Given the description of an element on the screen output the (x, y) to click on. 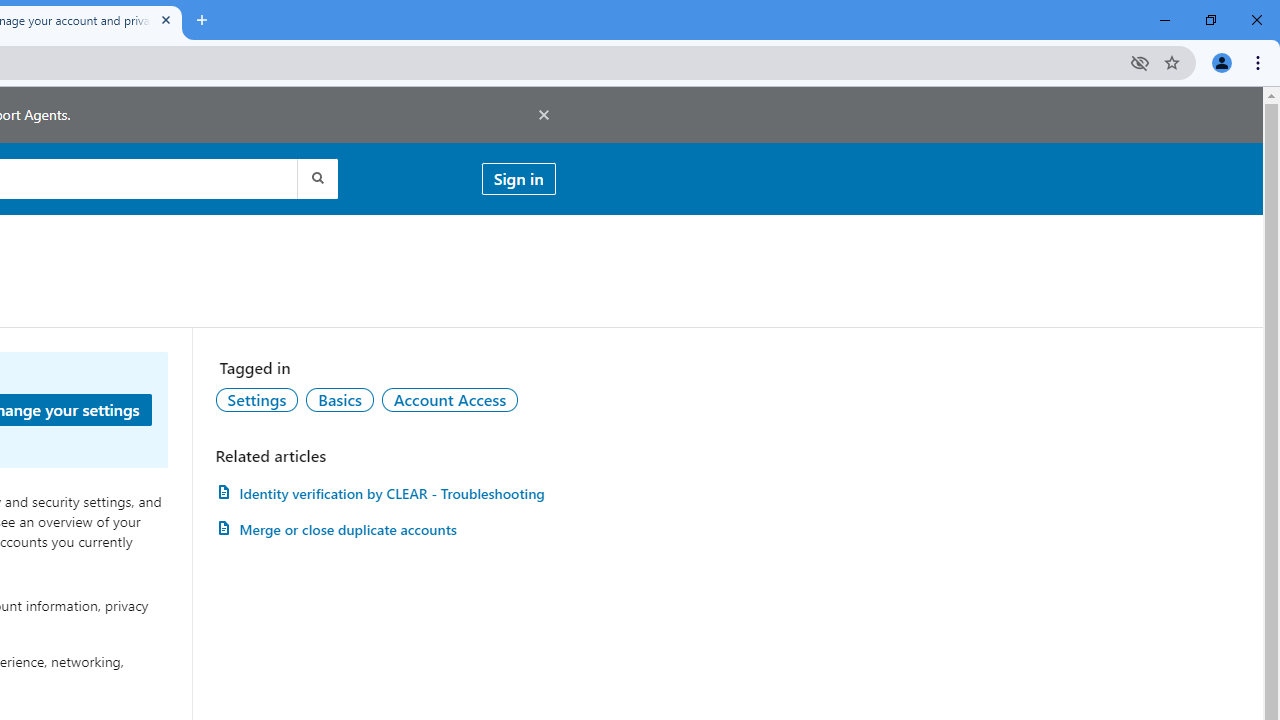
AutomationID: topic-link-a149001 (257, 399)
Settings (257, 399)
Submit search (316, 178)
AutomationID: article-link-a1337200 (385, 529)
AutomationID: topic-link-a151002 (449, 399)
AutomationID: article-link-a1457505 (385, 493)
Account Access (449, 399)
Merge or close duplicate accounts (385, 529)
Identity verification by CLEAR - Troubleshooting (385, 493)
